Given the description of an element on the screen output the (x, y) to click on. 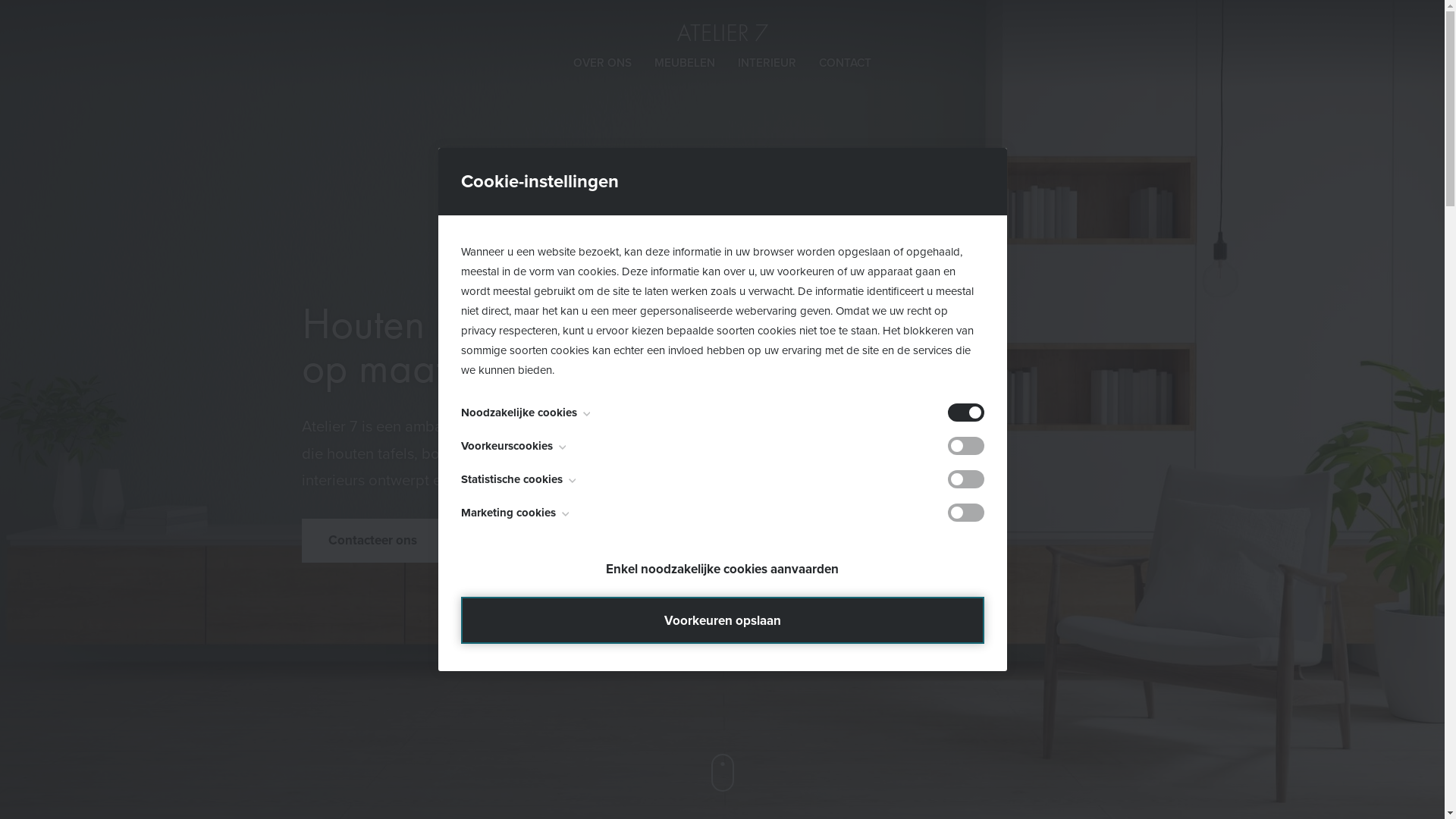
MEUBELEN Element type: text (684, 62)
Contacteer ons Element type: text (372, 540)
CONTACT Element type: text (845, 62)
OVER ONS Element type: text (602, 62)
INTERIEUR Element type: text (766, 62)
